Given the description of an element on the screen output the (x, y) to click on. 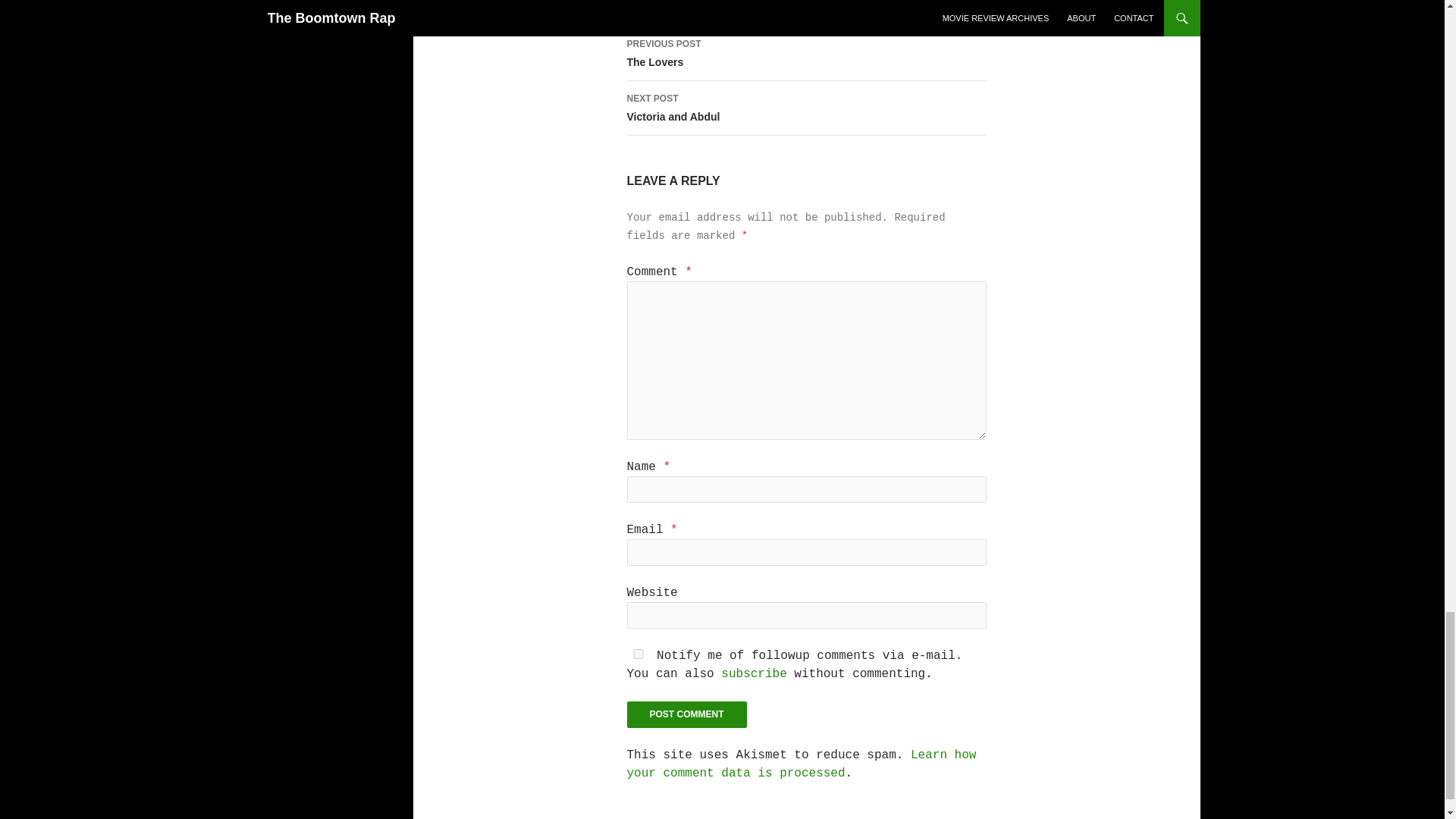
Learn how your comment data is processed (800, 764)
Post Comment (685, 714)
yes (805, 53)
Post Comment (637, 654)
subscribe (685, 714)
